Given the description of an element on the screen output the (x, y) to click on. 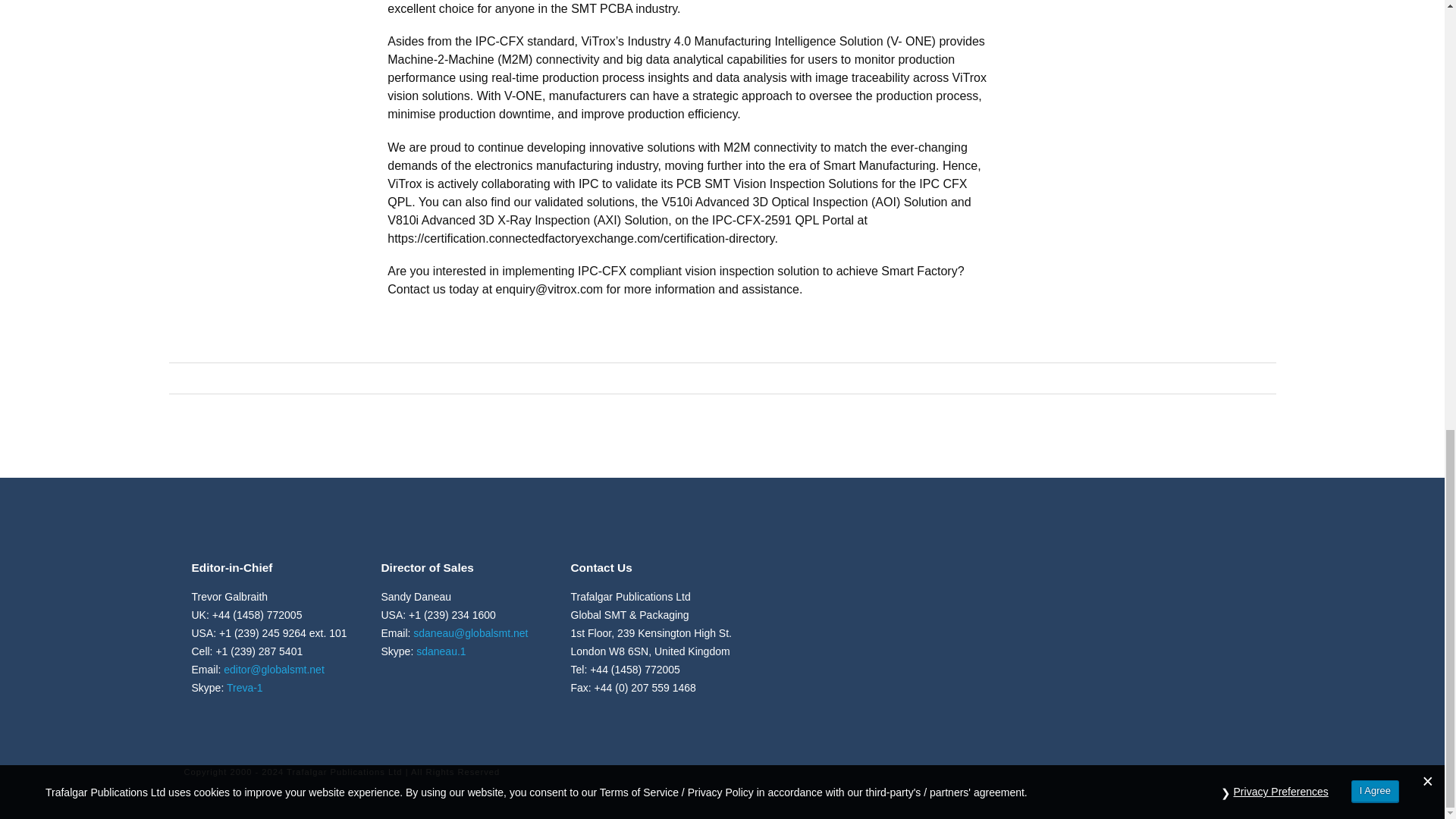
Treva-1 (245, 687)
sdaneau.1 (440, 651)
